Given the description of an element on the screen output the (x, y) to click on. 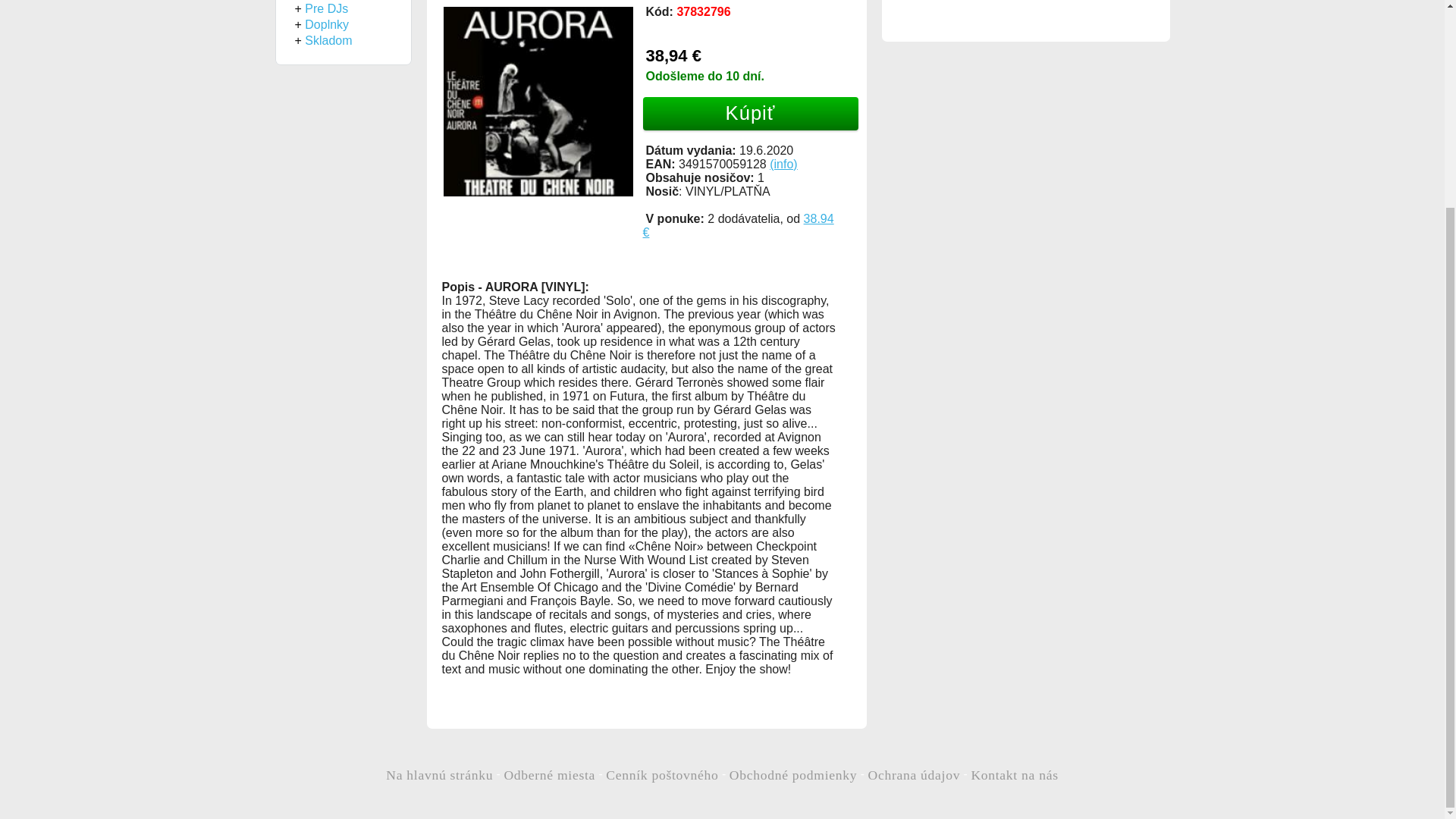
objednat (751, 113)
